Given the description of an element on the screen output the (x, y) to click on. 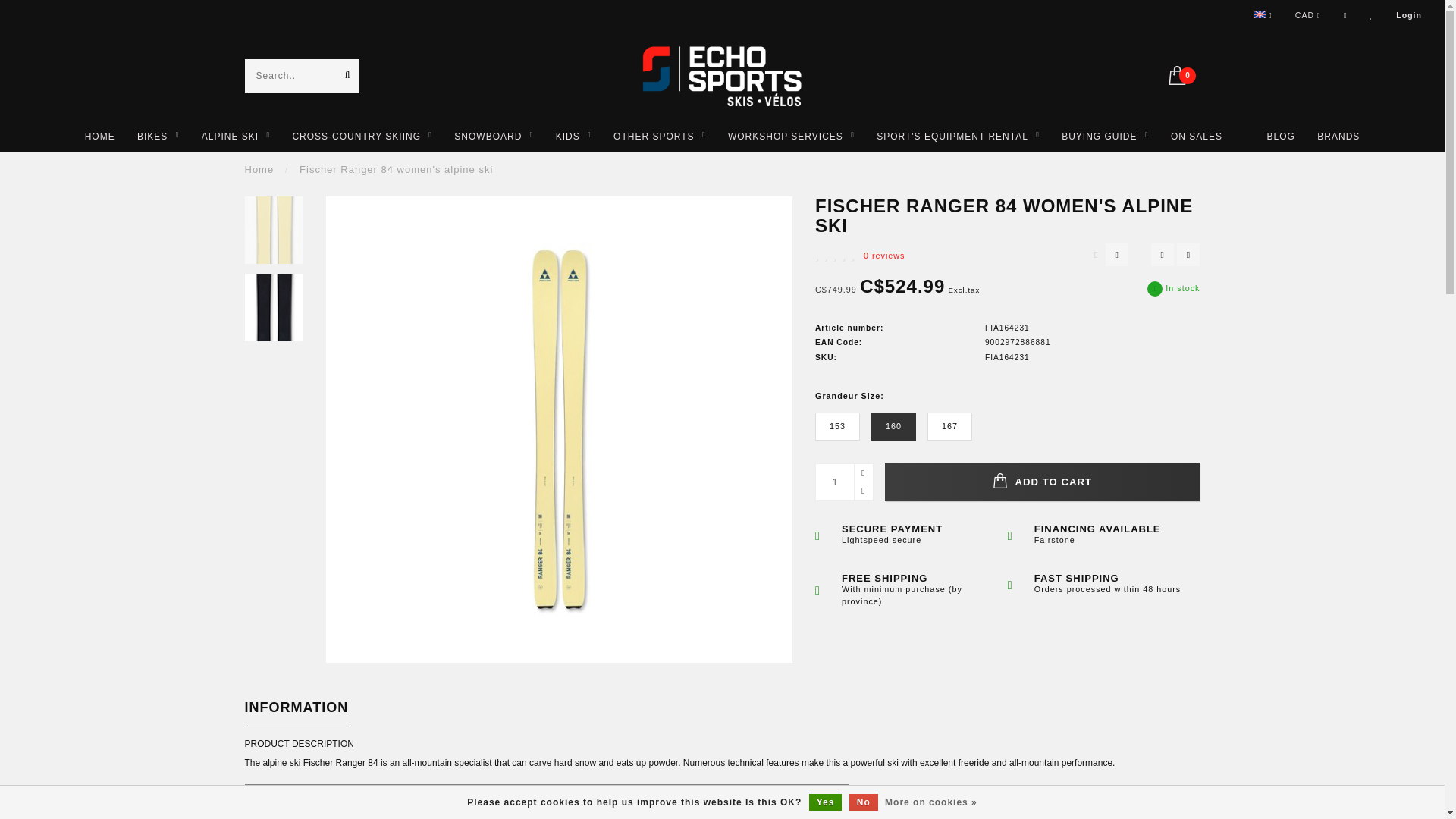
0 (1183, 73)
1 (843, 482)
No (862, 801)
More on cookies (930, 802)
Home (258, 169)
HOME (99, 136)
Add to comparison (1187, 254)
Add to wishlist (1162, 254)
BIKES (157, 136)
Yes (826, 801)
Login (1409, 14)
